Given the description of an element on the screen output the (x, y) to click on. 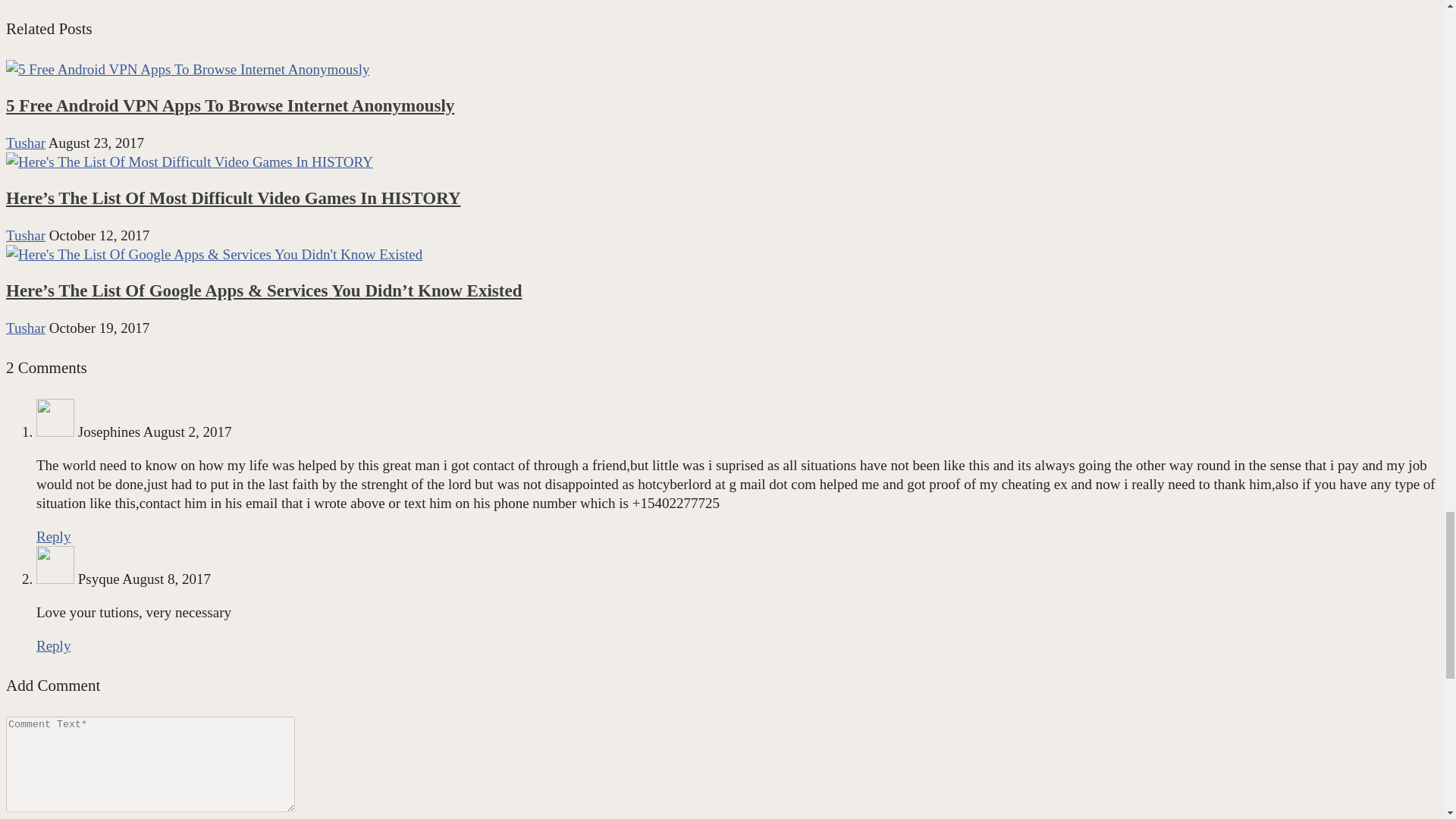
5 Free Android VPN Apps To Browse Internet Anonymously (229, 105)
Posts by Tushar (25, 327)
Posts by Tushar (25, 235)
Posts by Tushar (25, 142)
